Given the description of an element on the screen output the (x, y) to click on. 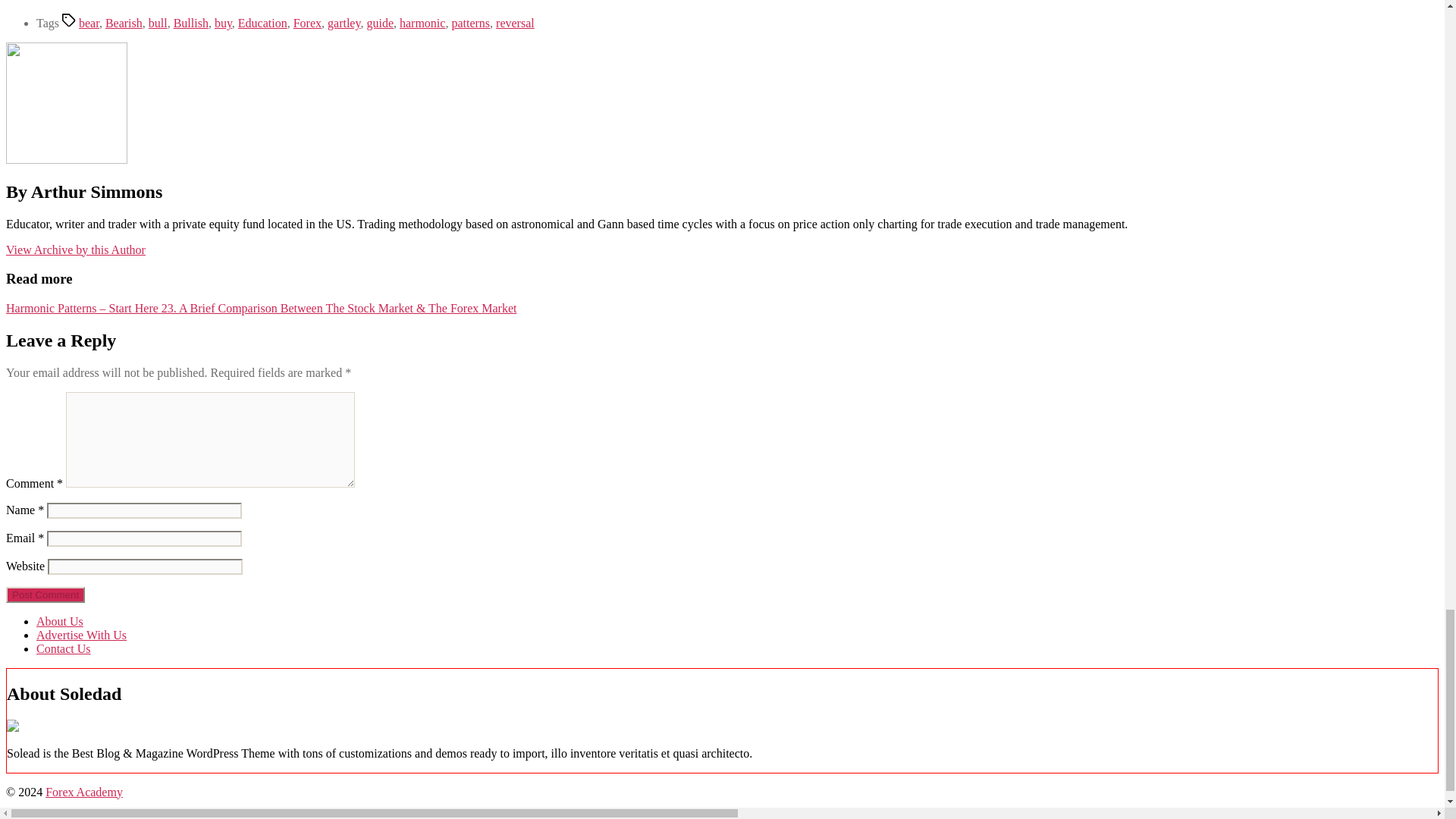
Post Comment (44, 594)
